Given the description of an element on the screen output the (x, y) to click on. 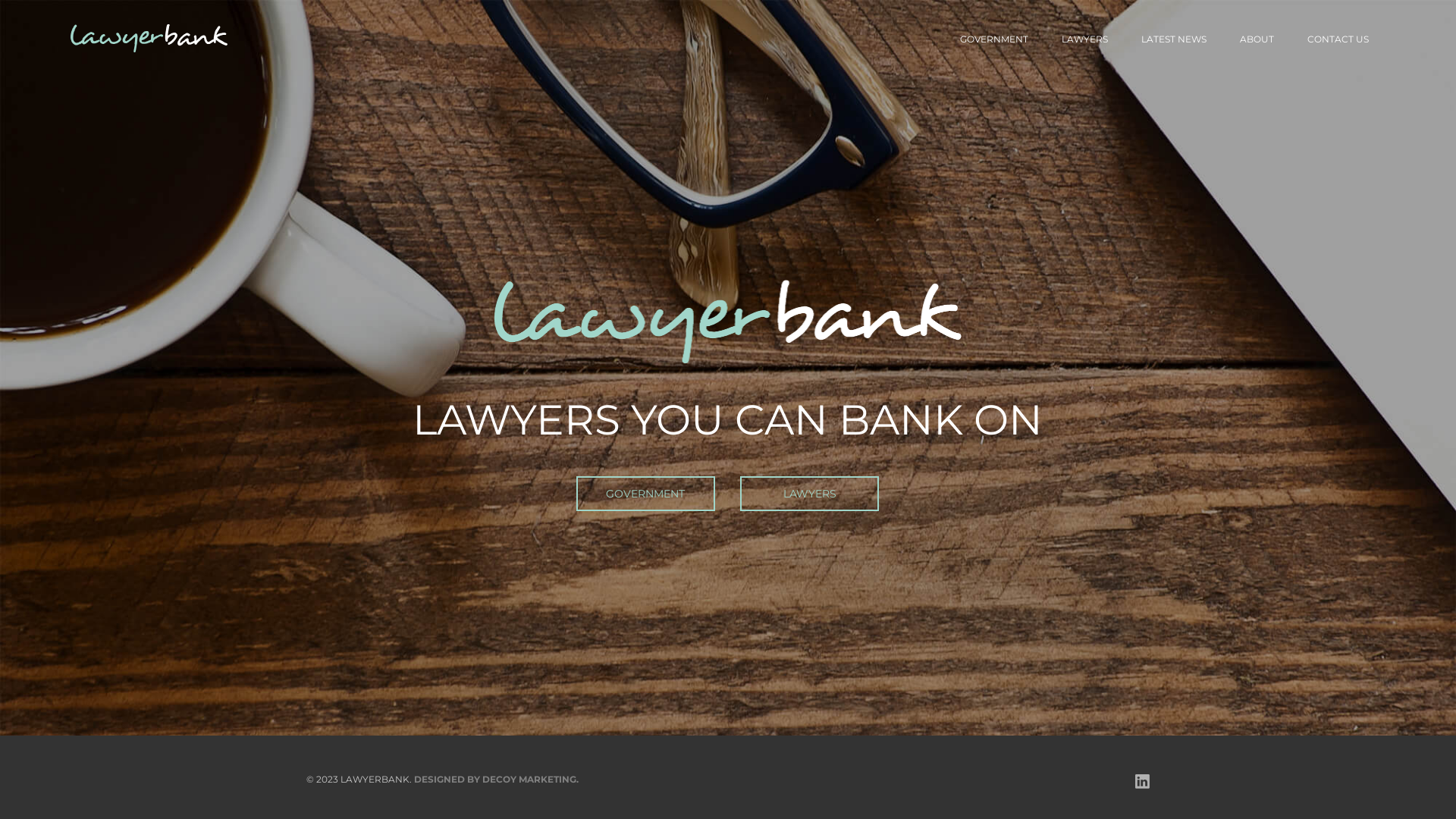
LAWYERS Element type: text (1084, 39)
CONTACT US Element type: text (1337, 39)
GOVERNMENT Element type: text (645, 493)
ABOUT Element type: text (1256, 39)
LATEST NEWS Element type: text (1173, 39)
GOVERNMENT Element type: text (993, 39)
LAWYERS Element type: text (809, 493)
DECOY MARKETING. Element type: text (530, 778)
Lawyerbank Element type: hover (148, 38)
